Given the description of an element on the screen output the (x, y) to click on. 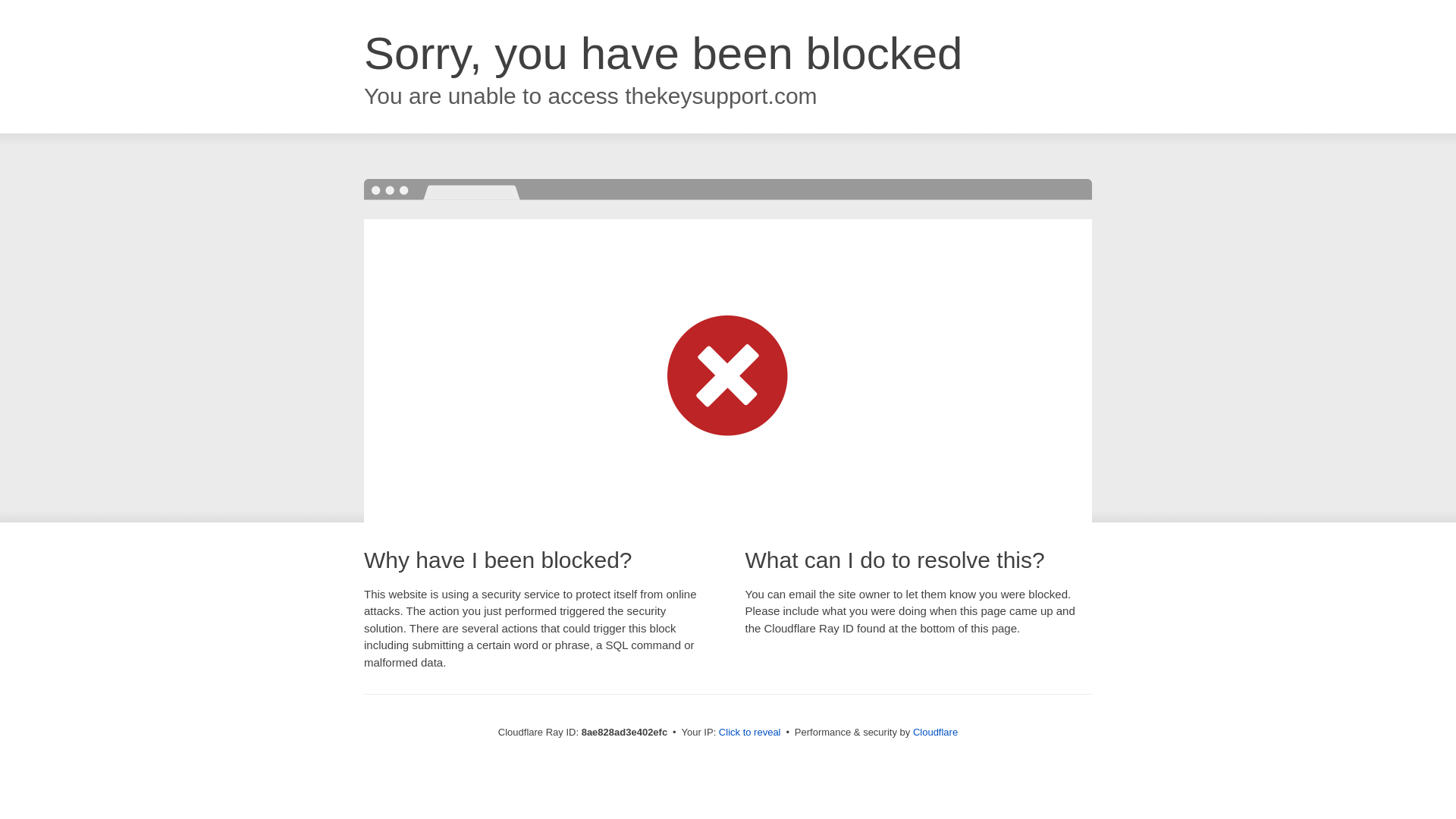
Click to reveal (749, 732)
Cloudflare (935, 731)
